Given the description of an element on the screen output the (x, y) to click on. 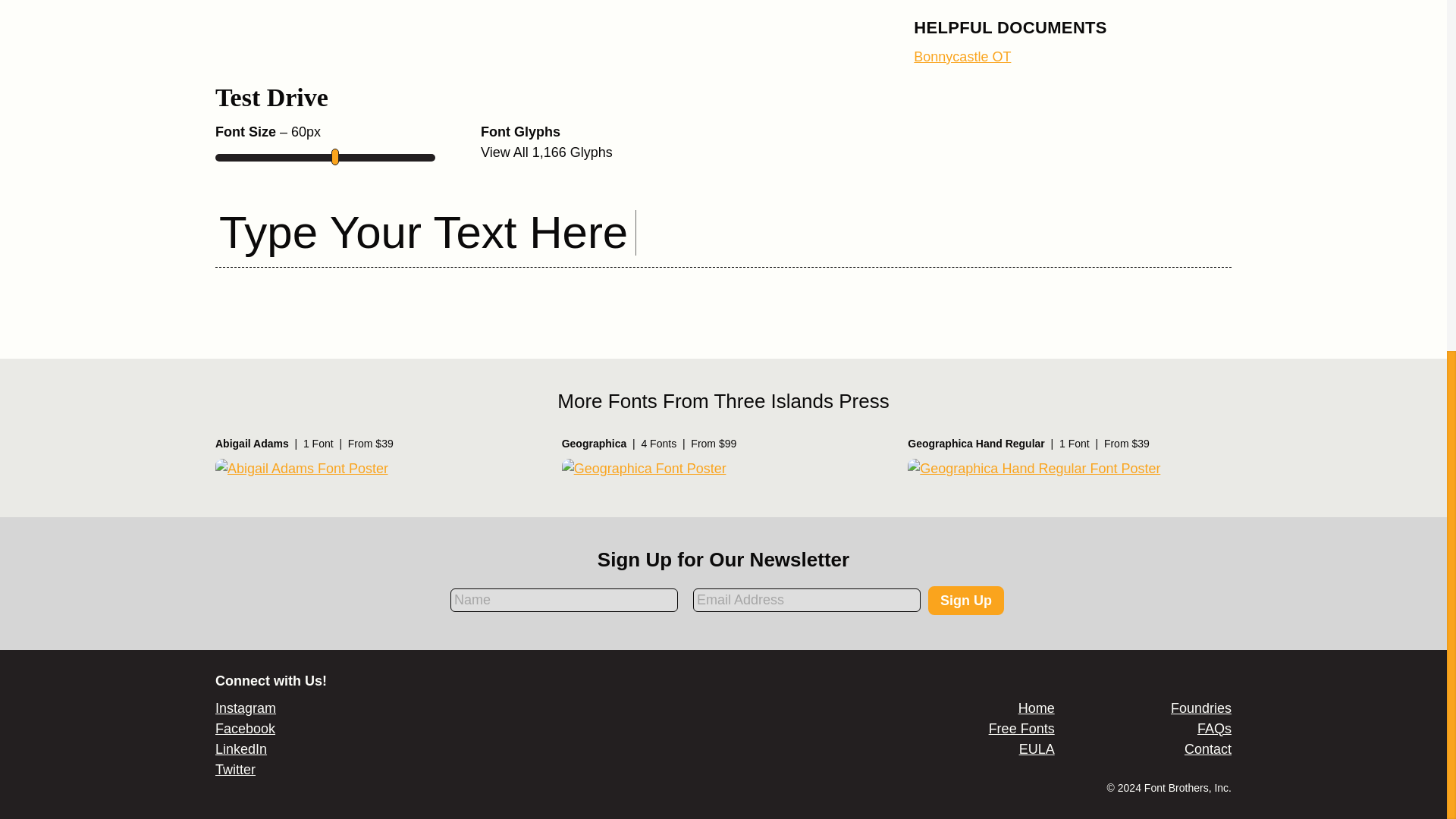
Bonnycastle OT (962, 56)
Sign Up (966, 600)
Contact (1208, 749)
FAQs (1213, 728)
Facebook (245, 728)
Foundries (1200, 708)
LinkedIn (240, 749)
EULA (1036, 749)
Home (1035, 708)
View All 1,166 Glyphs (546, 151)
